Given the description of an element on the screen output the (x, y) to click on. 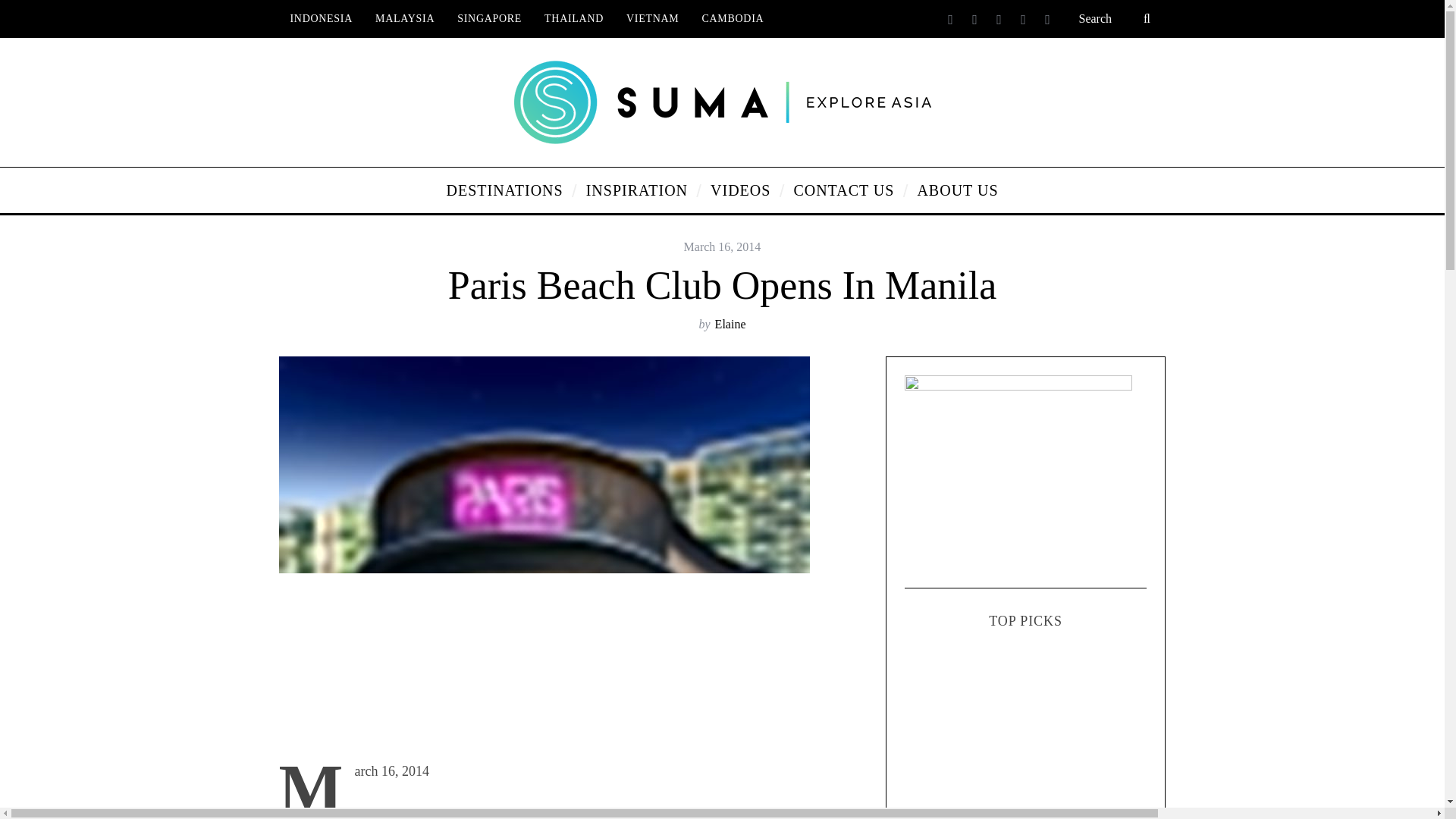
THAILAND (573, 18)
MALAYSIA (404, 18)
Search (1116, 18)
CAMBODIA (732, 18)
SINGAPORE (488, 18)
INDONESIA (322, 18)
VIETNAM (652, 18)
DESTINATIONS (503, 189)
